Given the description of an element on the screen output the (x, y) to click on. 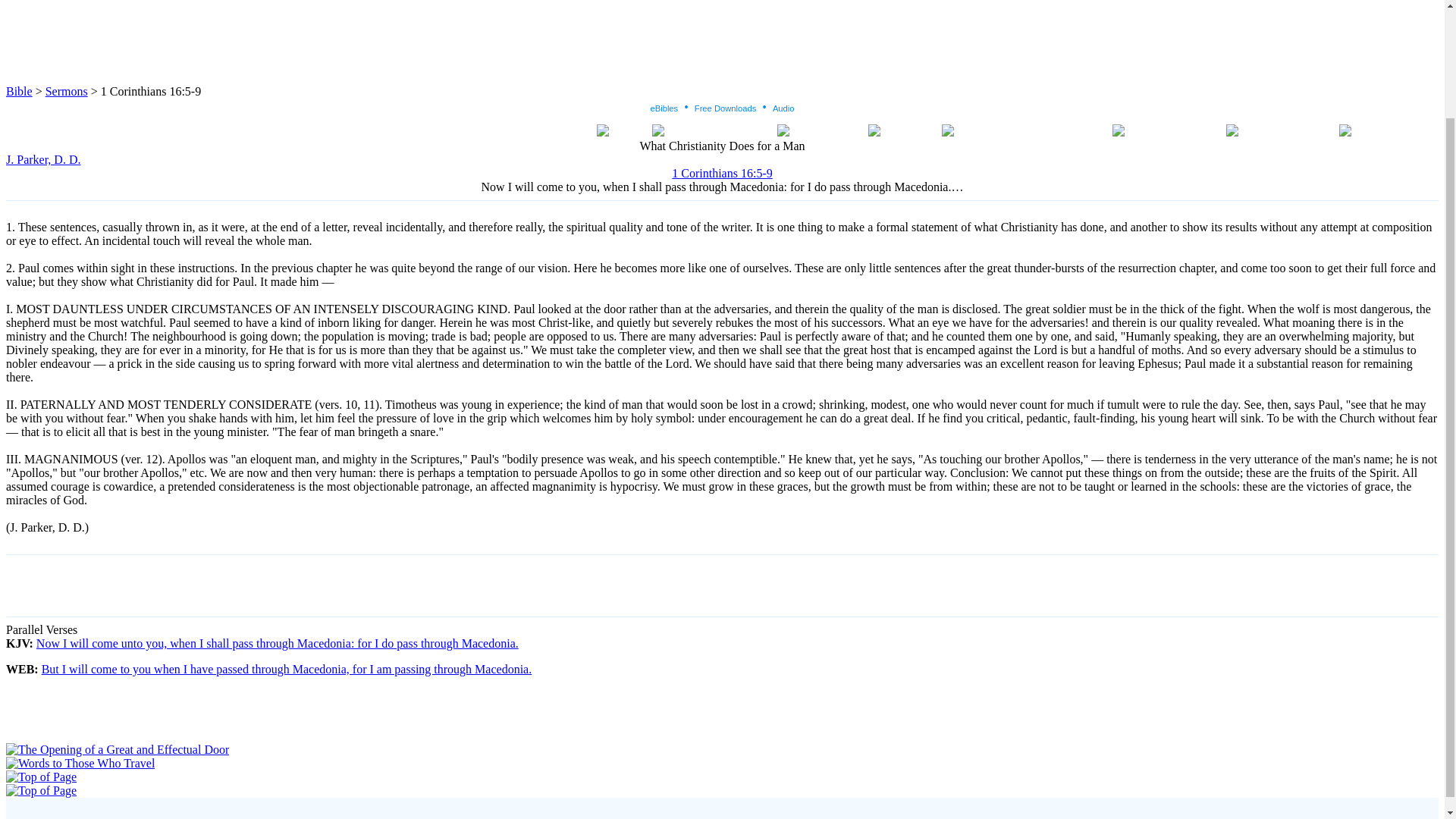
Top of Page (41, 789)
Sermons (66, 91)
Bible (18, 91)
The Opening of a Great and Effectual Door (116, 748)
Words to Those Who Travel (79, 762)
J. Parker, D. D. (42, 159)
1 Corinthians 16:5-9 (721, 173)
Top of Page (41, 776)
